Given the description of an element on the screen output the (x, y) to click on. 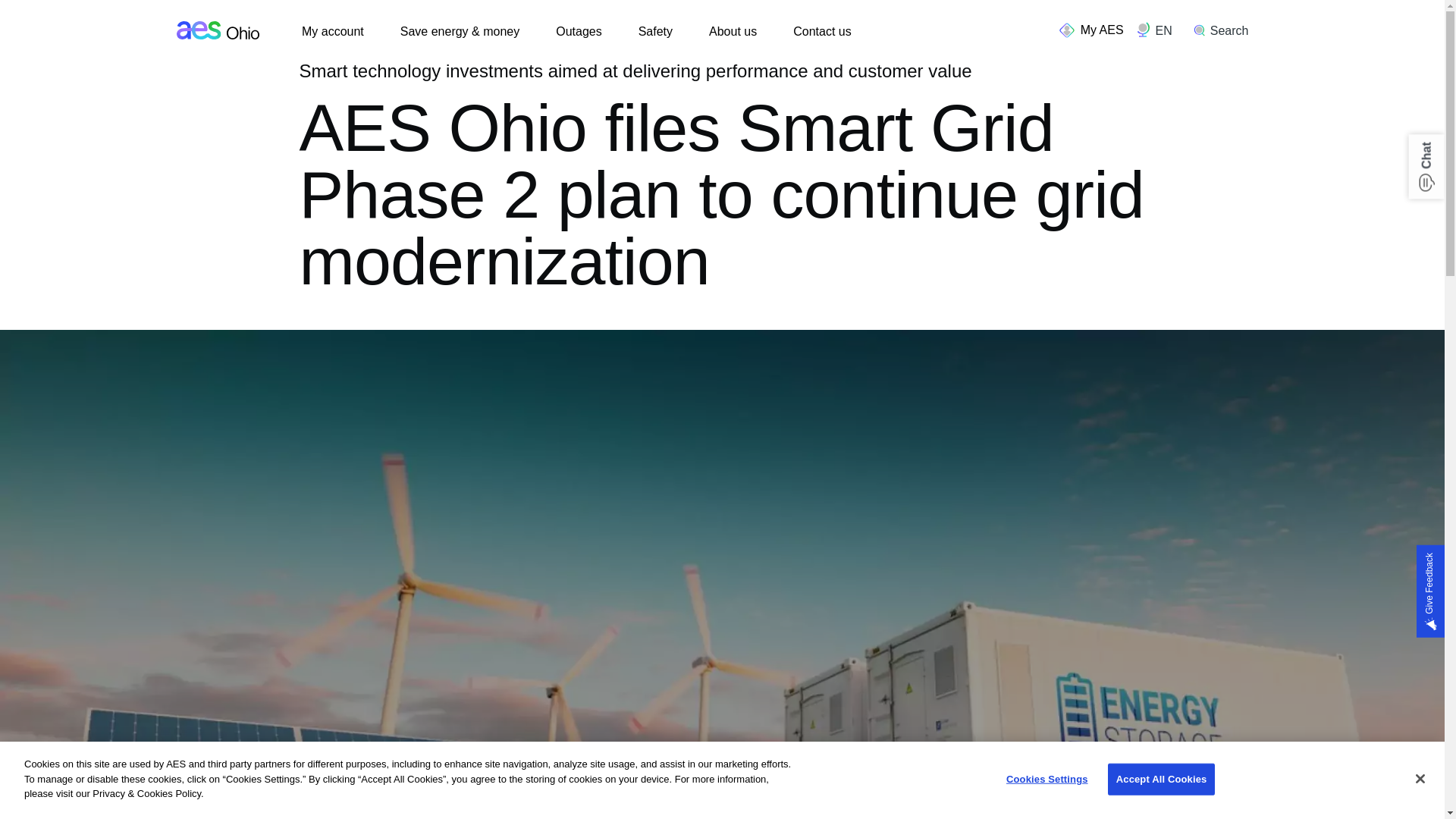
Contact us (821, 31)
My account (332, 31)
Outages (578, 31)
 Outages (578, 31)
Safety (655, 31)
About us (733, 31)
Safety (655, 31)
My account (332, 31)
